Given the description of an element on the screen output the (x, y) to click on. 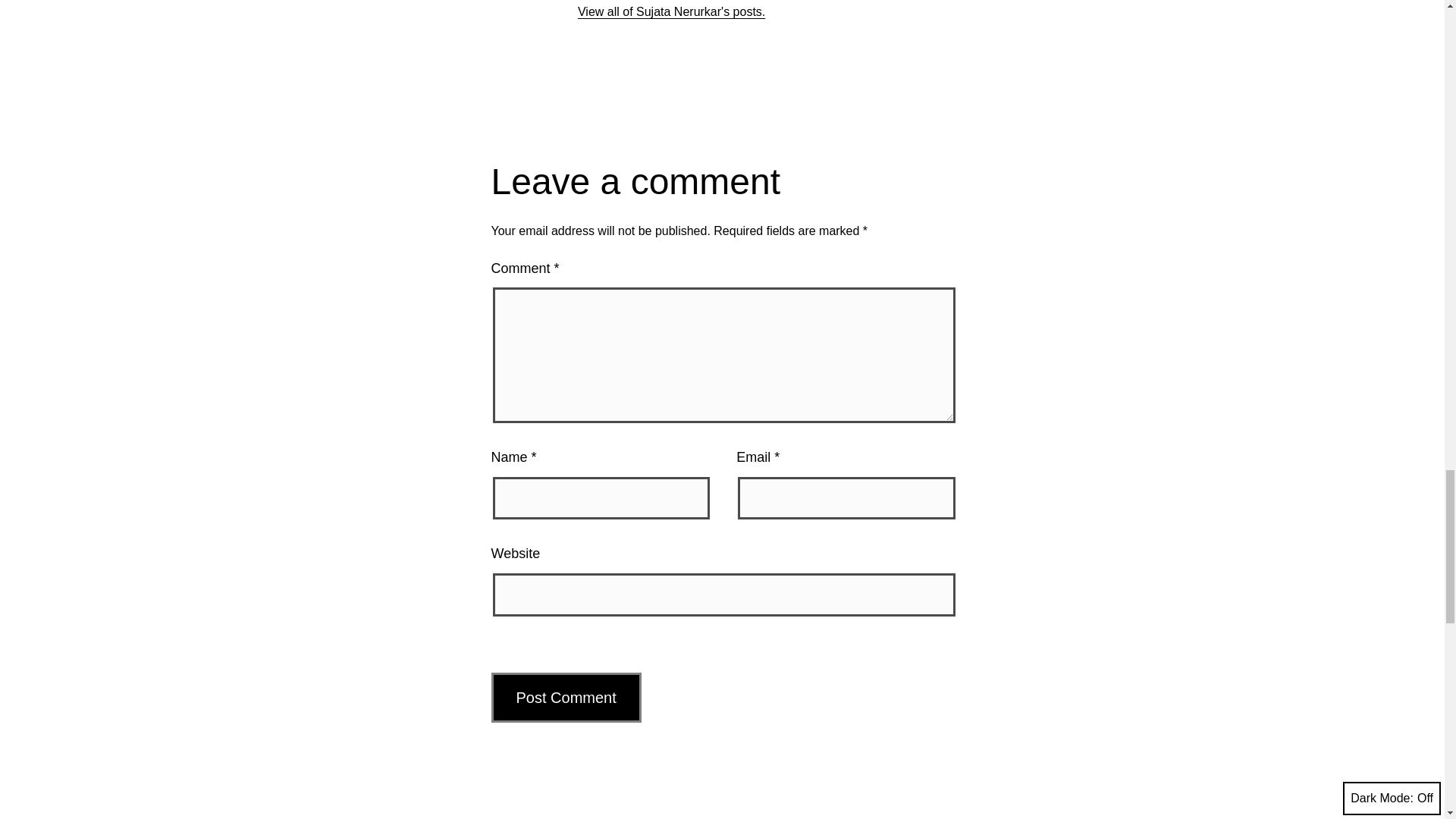
View all of Sujata Nerurkar's posts. (671, 11)
Post Comment (567, 697)
Post Comment (567, 697)
